Given the description of an element on the screen output the (x, y) to click on. 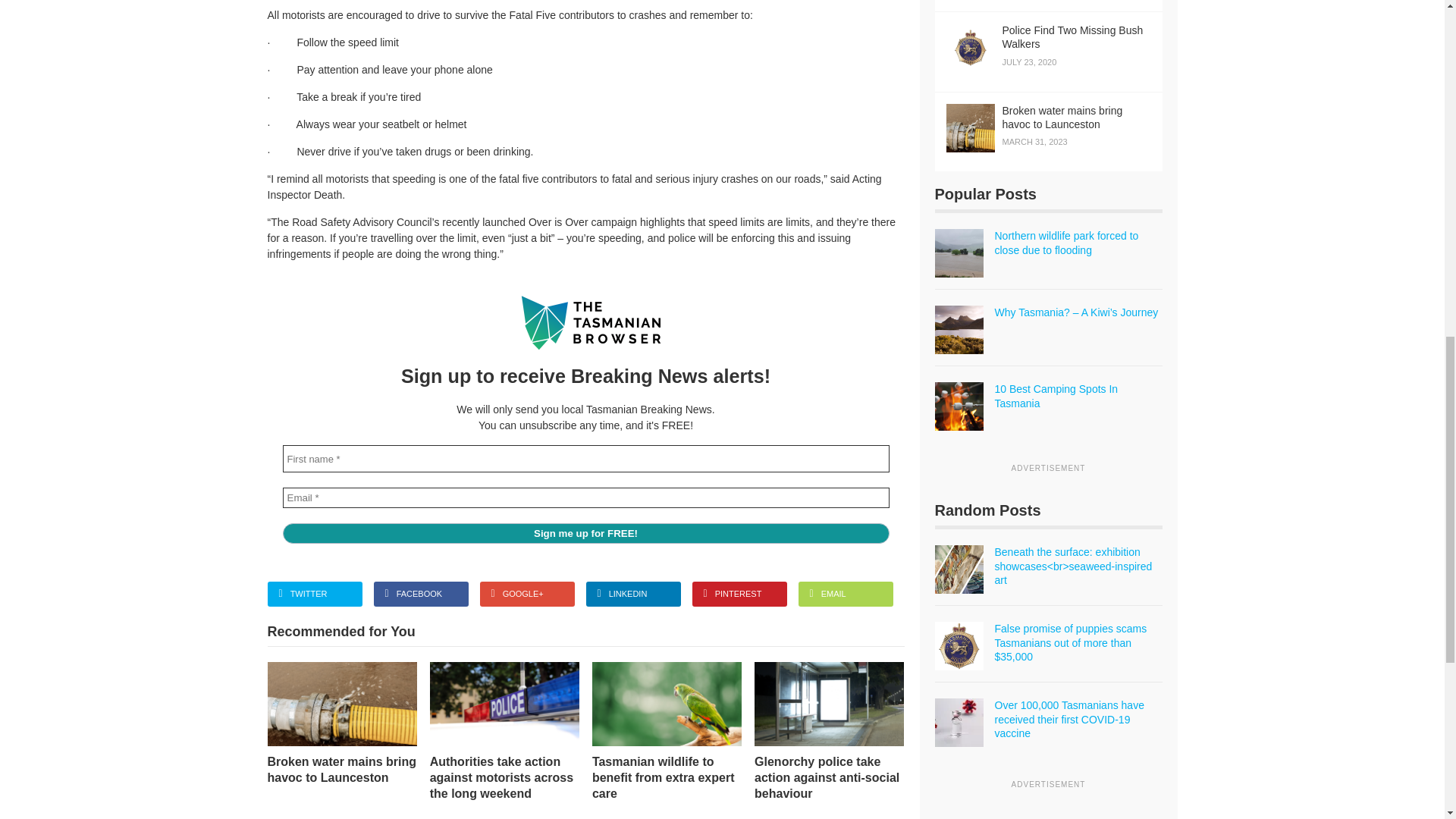
Sign me up for FREE! (585, 533)
TWITTER (313, 593)
EMAIL (844, 593)
FACEBOOK (419, 593)
First name (585, 458)
LINKEDIN (632, 593)
Email (585, 497)
Sign me up for FREE! (585, 533)
PINTEREST (738, 593)
